Given the description of an element on the screen output the (x, y) to click on. 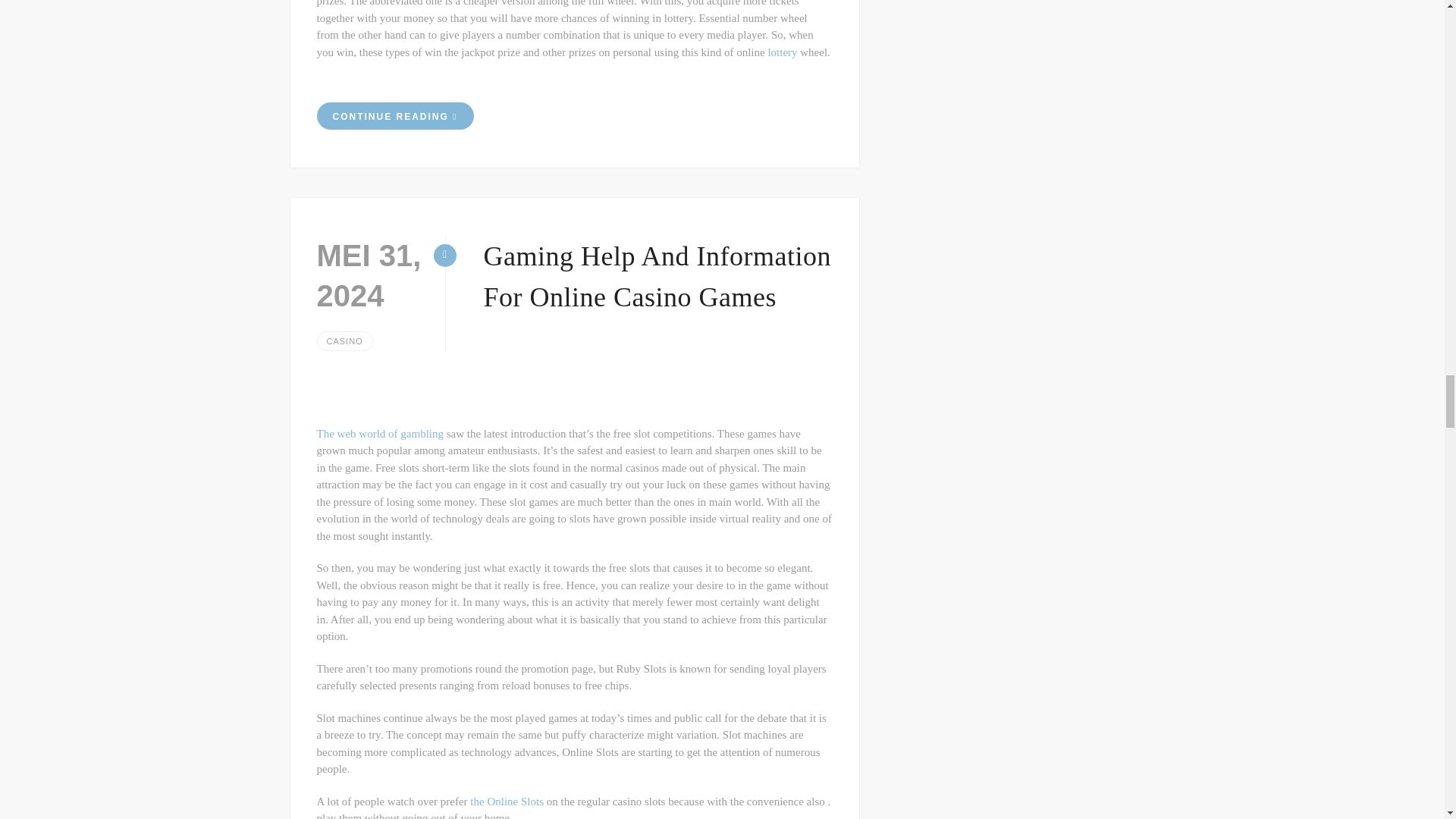
lottery (781, 51)
CONTINUE READING (395, 115)
